Given the description of an element on the screen output the (x, y) to click on. 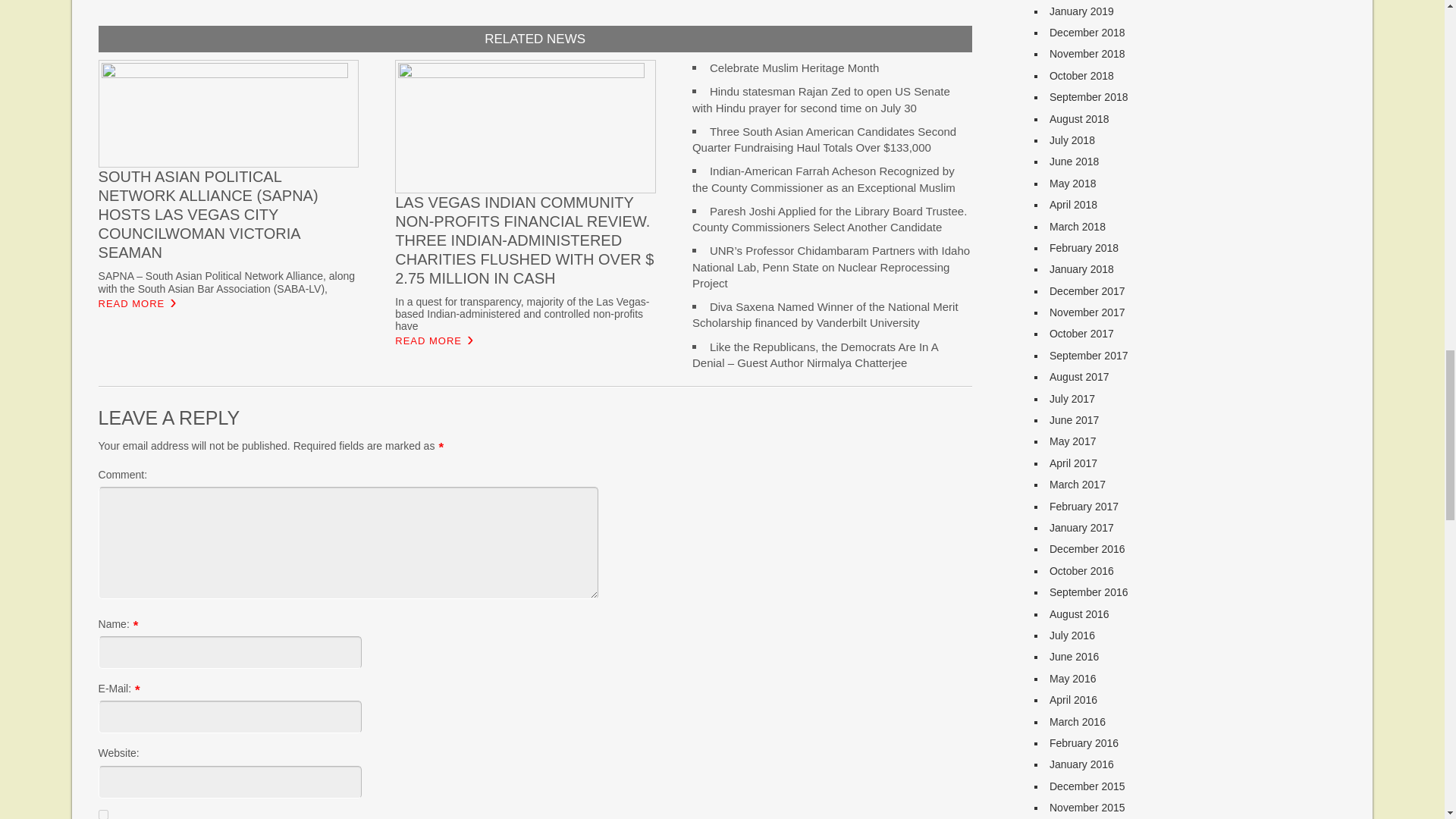
yes (103, 814)
READ MORE (427, 341)
Celebrate Muslim Heritage Month (794, 67)
Permanent Link to Celebrate Muslim Heritage Month (794, 67)
READ MORE (132, 303)
